Given the description of an element on the screen output the (x, y) to click on. 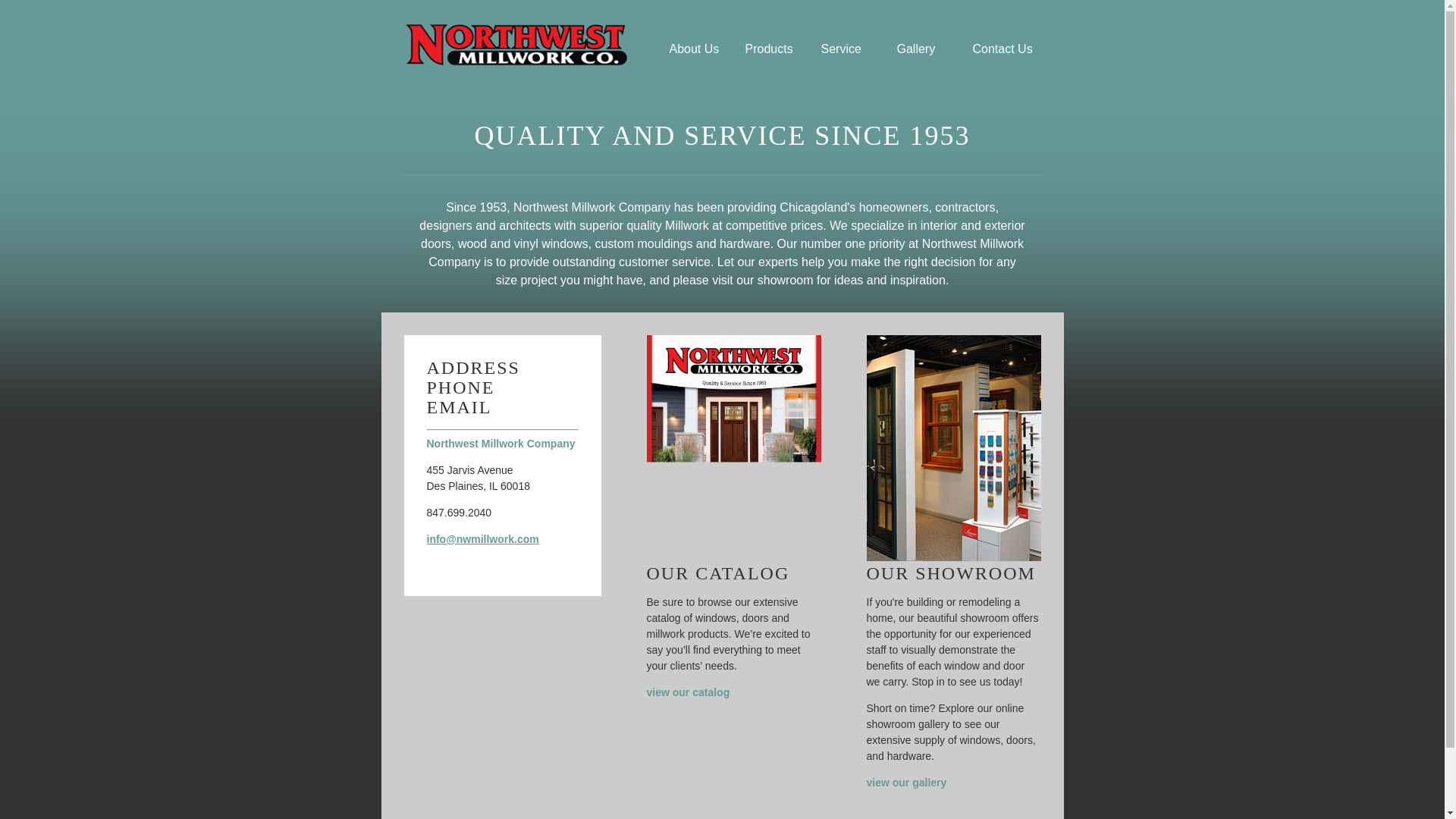
Gallery (925, 49)
Products (774, 49)
About Us (698, 49)
view our catalog (687, 692)
view our gallery (906, 782)
Contact Us (1002, 49)
Service (850, 49)
